Given the description of an element on the screen output the (x, y) to click on. 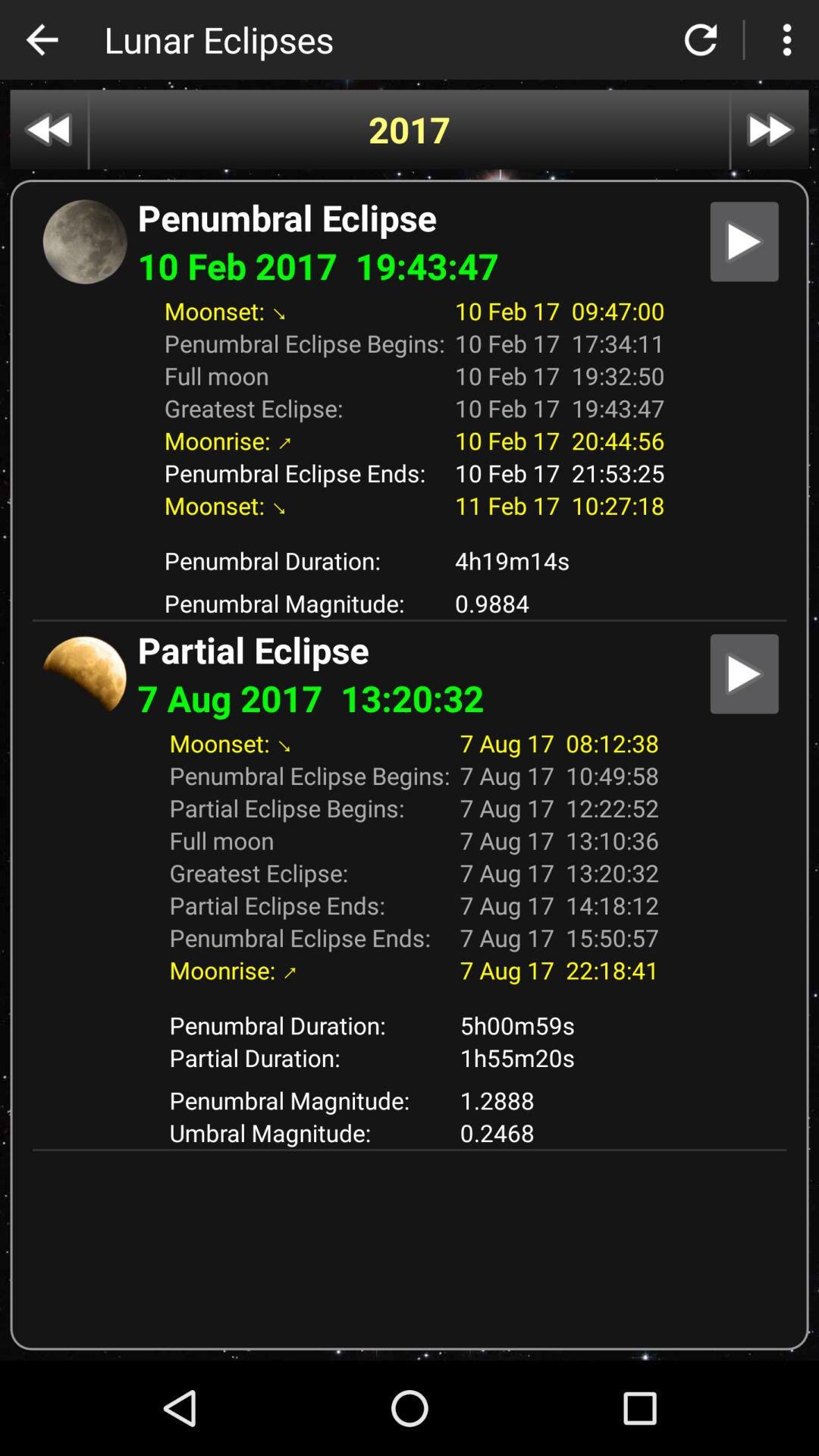
go to previous (48, 129)
